Given the description of an element on the screen output the (x, y) to click on. 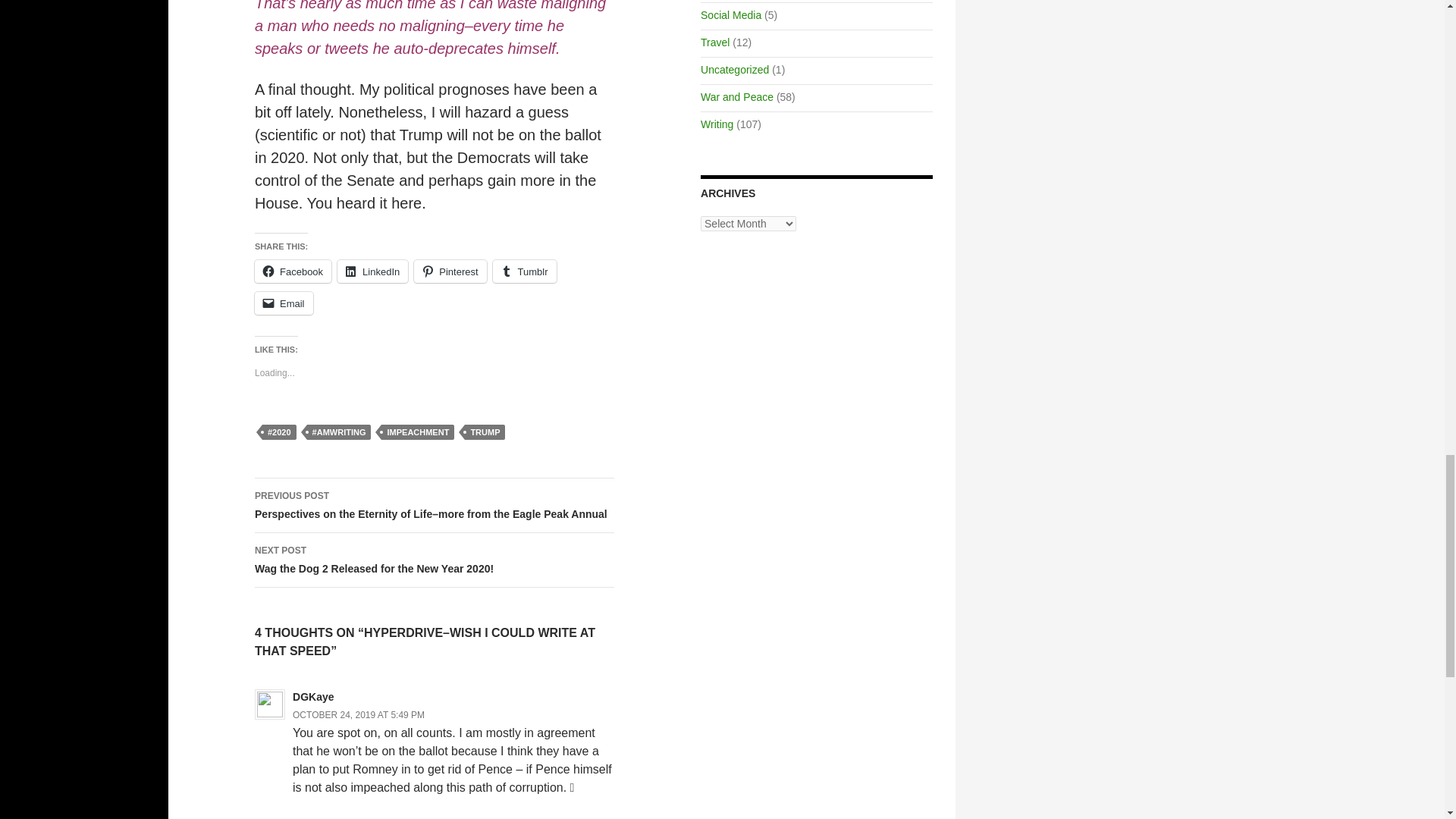
LinkedIn (372, 271)
OCTOBER 24, 2019 AT 5:49 PM (358, 715)
Pinterest (449, 271)
IMPEACHMENT (417, 432)
Click to share on LinkedIn (372, 271)
Facebook (434, 560)
Tumblr (292, 271)
Click to share on Pinterest (524, 271)
DGKaye (449, 271)
